Given the description of an element on the screen output the (x, y) to click on. 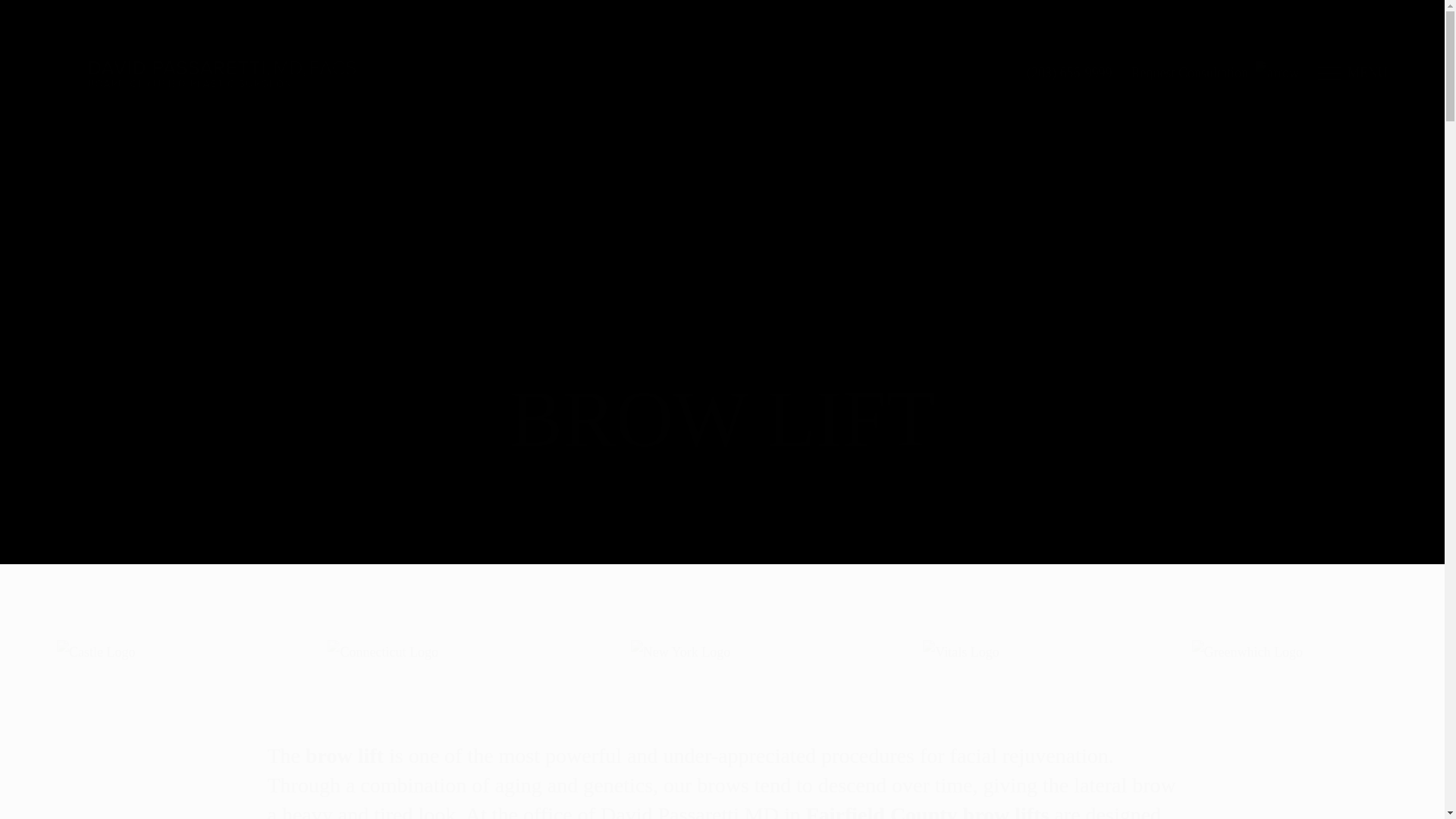
Request Consultation (1214, 72)
